Given the description of an element on the screen output the (x, y) to click on. 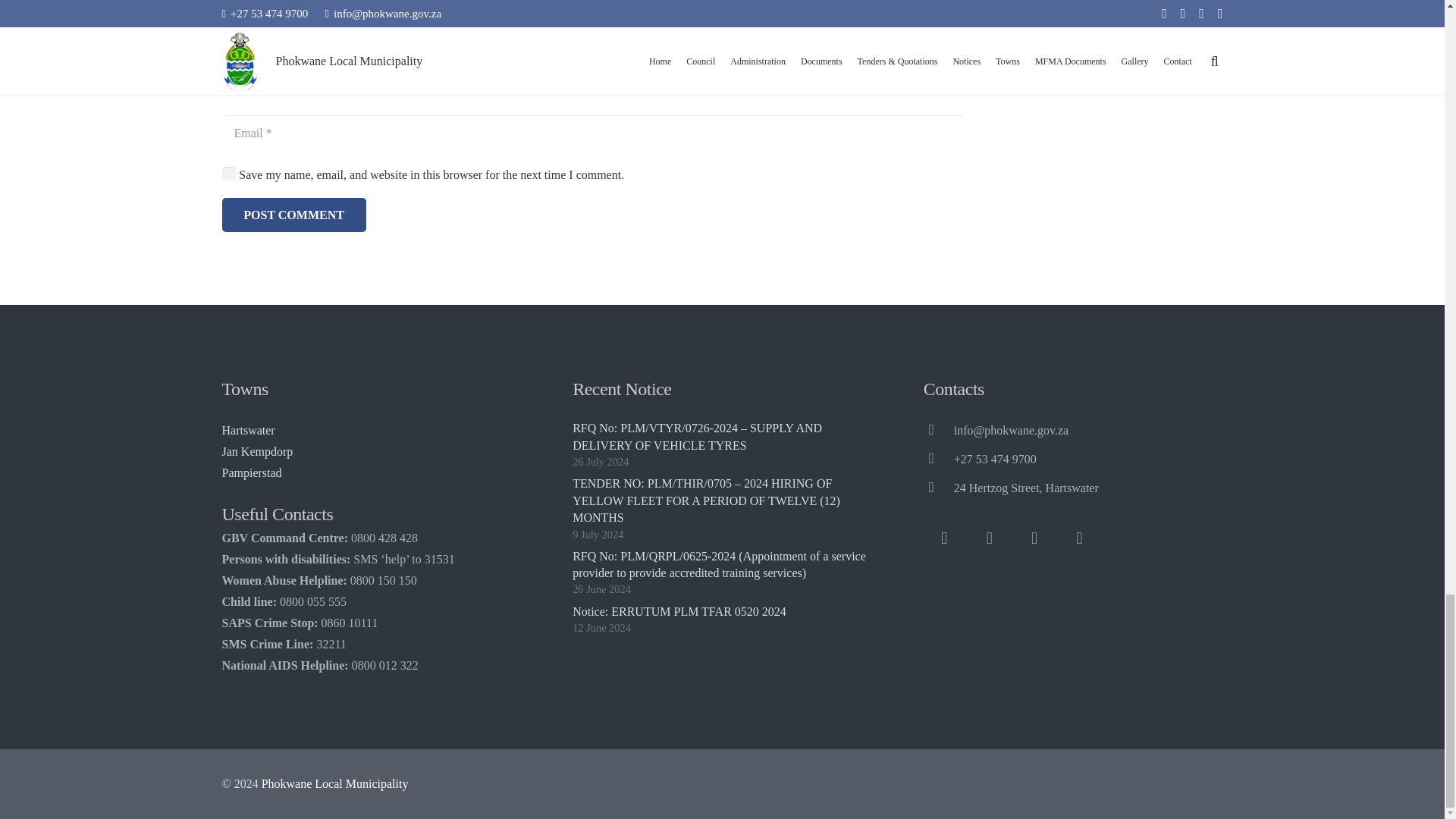
1 (228, 173)
